Given the description of an element on the screen output the (x, y) to click on. 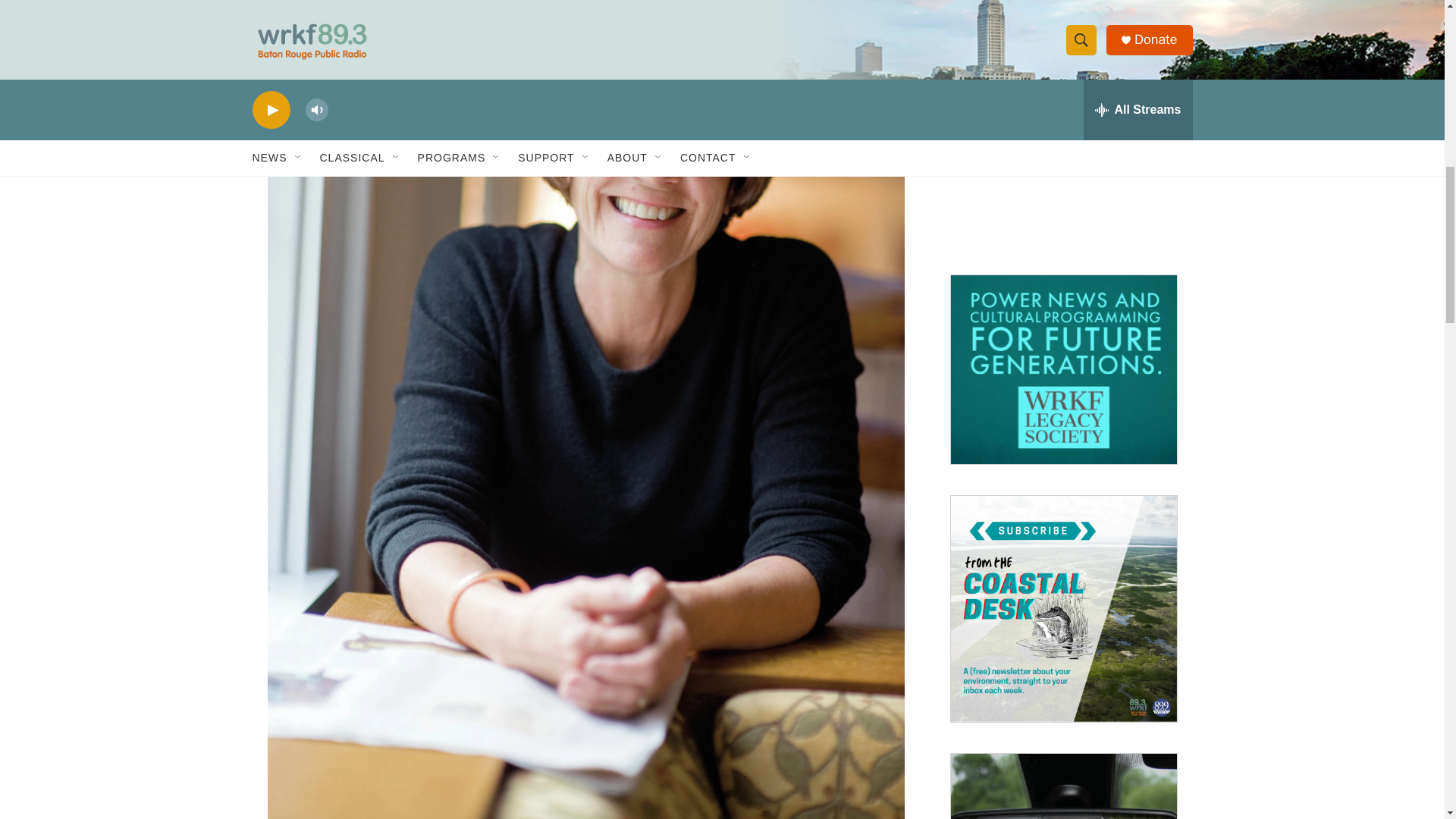
3rd party ad content (1062, 149)
